Given the description of an element on the screen output the (x, y) to click on. 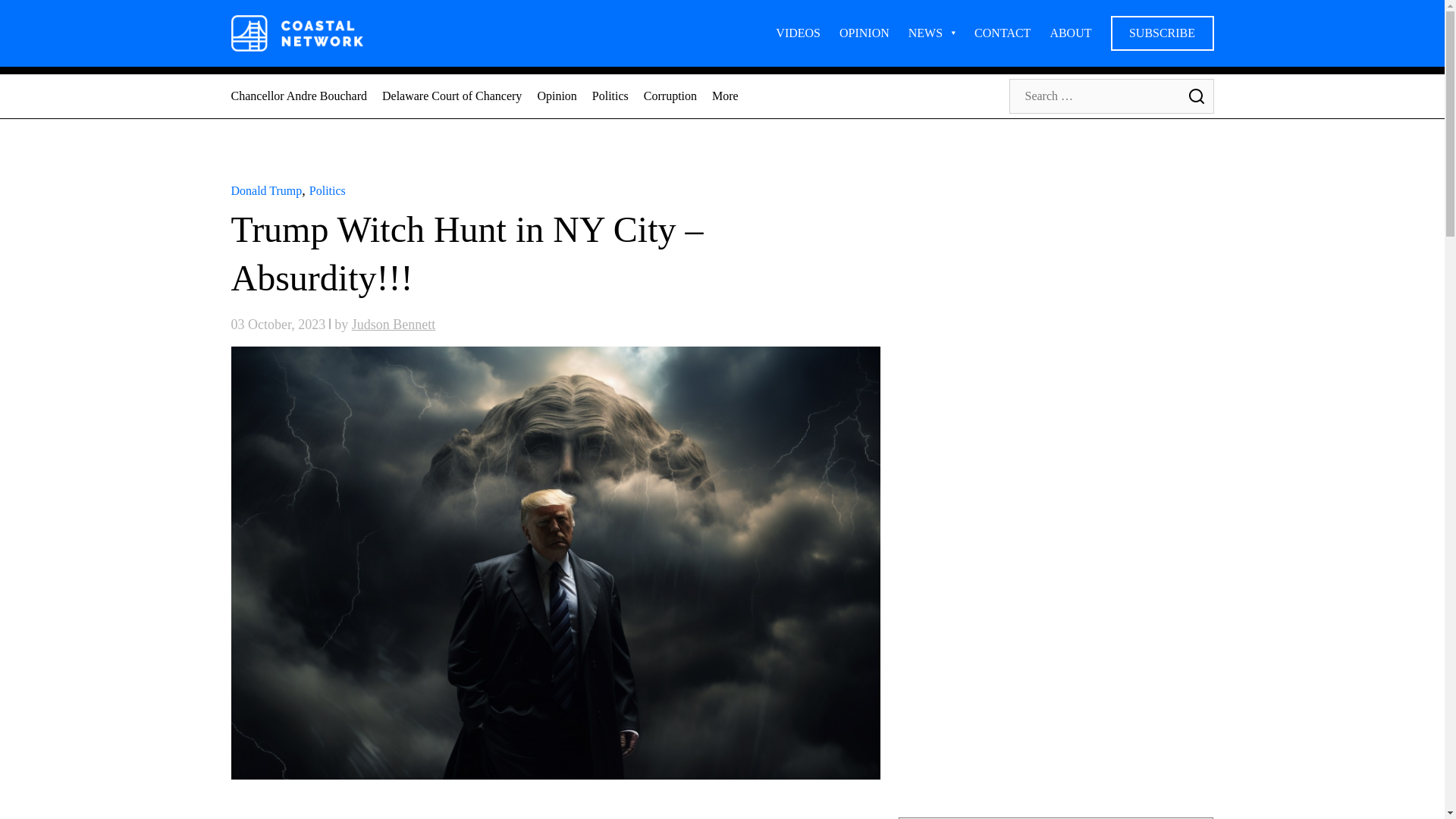
NEWS (931, 32)
Politics (327, 190)
Search (1194, 95)
Search (1194, 95)
Opinion (556, 95)
Search (1194, 95)
Chancellor Andre Bouchard (298, 95)
SUBSCRIBE (1160, 32)
OPINION (864, 32)
CONTACT (1002, 32)
